Given the description of an element on the screen output the (x, y) to click on. 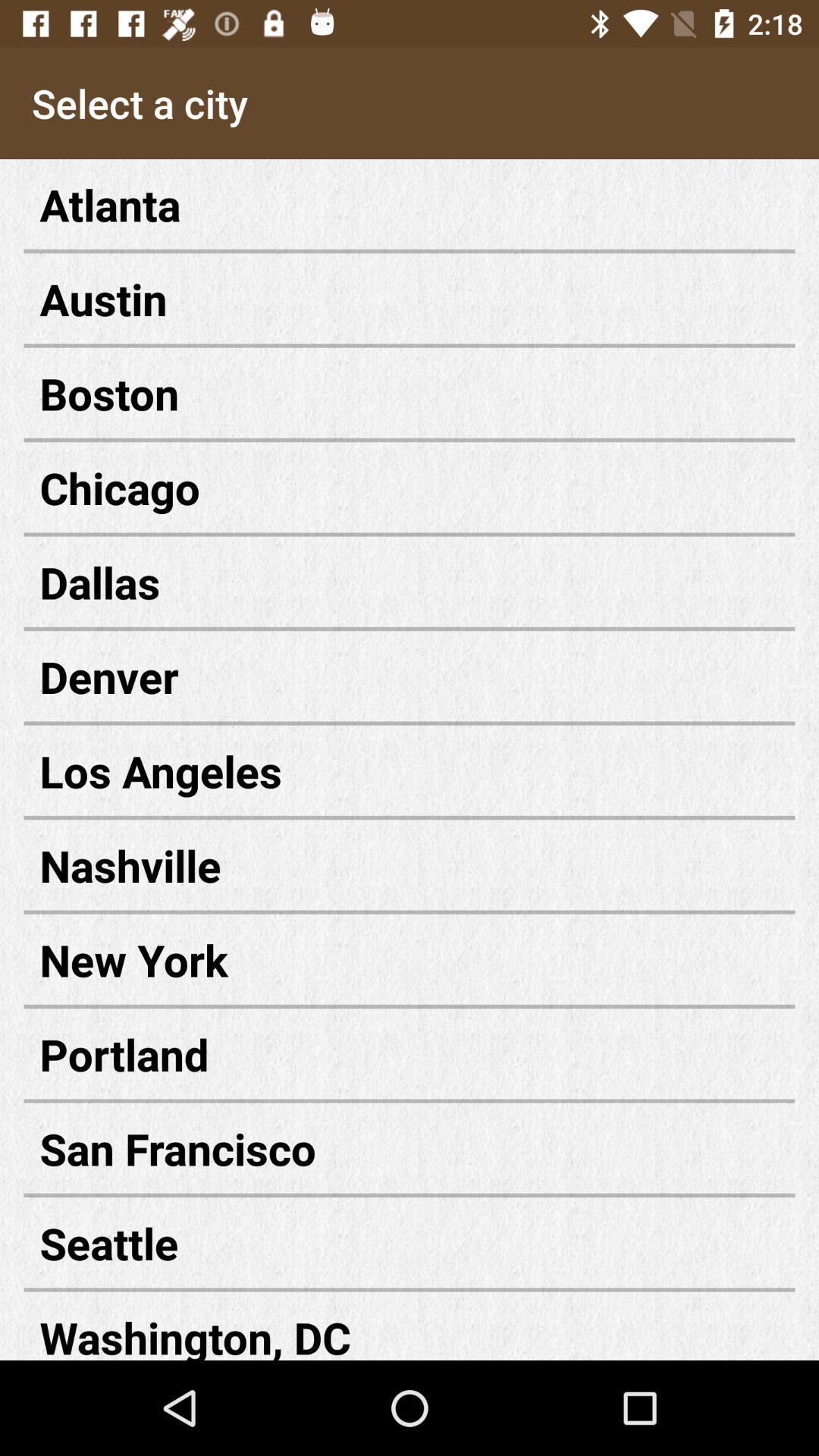
turn off item below the nashville item (409, 959)
